Given the description of an element on the screen output the (x, y) to click on. 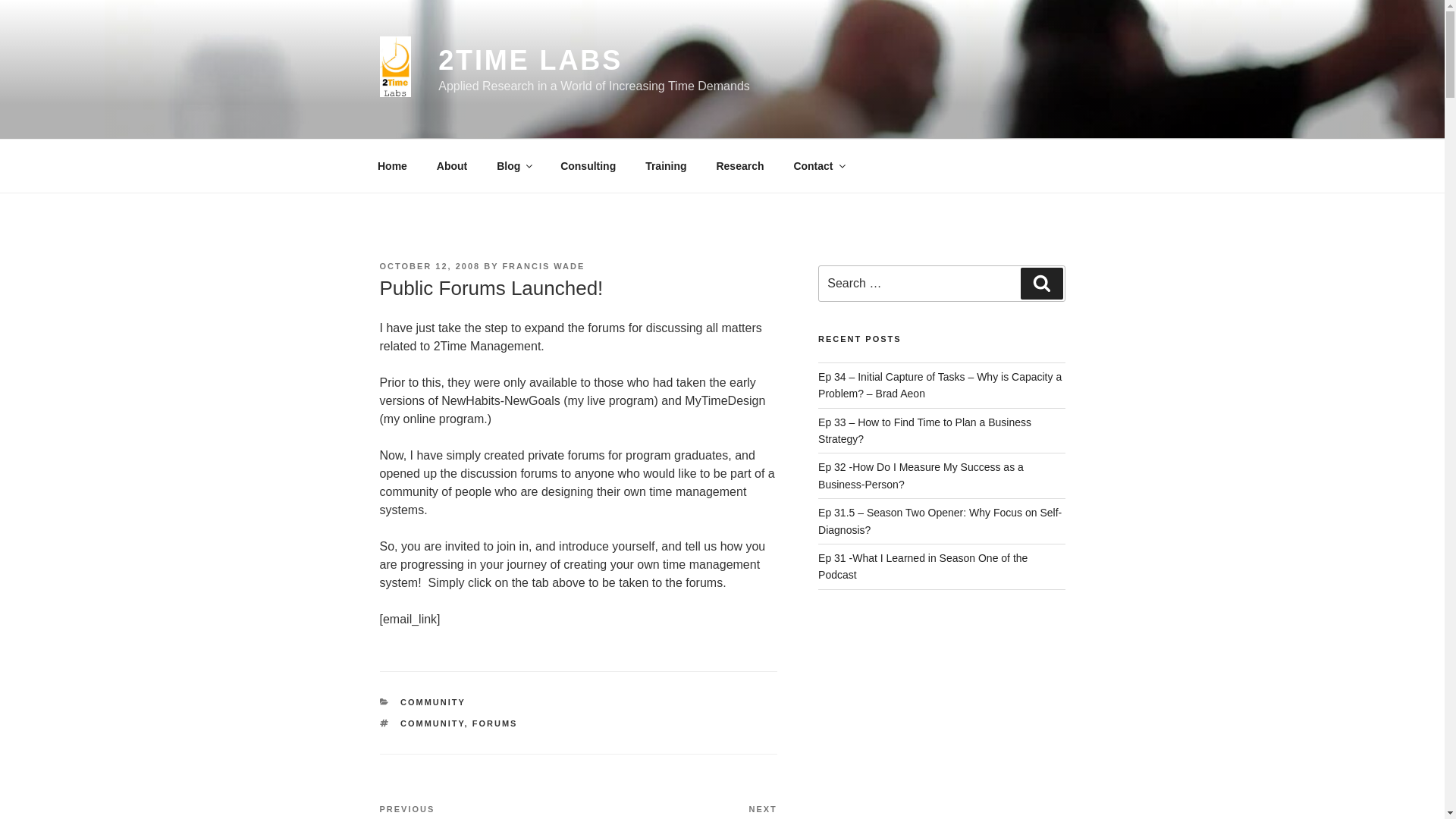
Ep 31 -What I Learned in Season One of the Podcast (922, 566)
Training (665, 165)
FRANCIS WADE (543, 266)
COMMUNITY (432, 723)
OCTOBER 12, 2008 (429, 266)
FORUMS (494, 723)
Consulting (677, 811)
About (587, 165)
COMMUNITY (451, 165)
Blog (432, 701)
Home (513, 165)
Research (392, 165)
Ep 32 -How Do I Measure My Success as a Business-Person? (740, 165)
Search (920, 475)
